Given the description of an element on the screen output the (x, y) to click on. 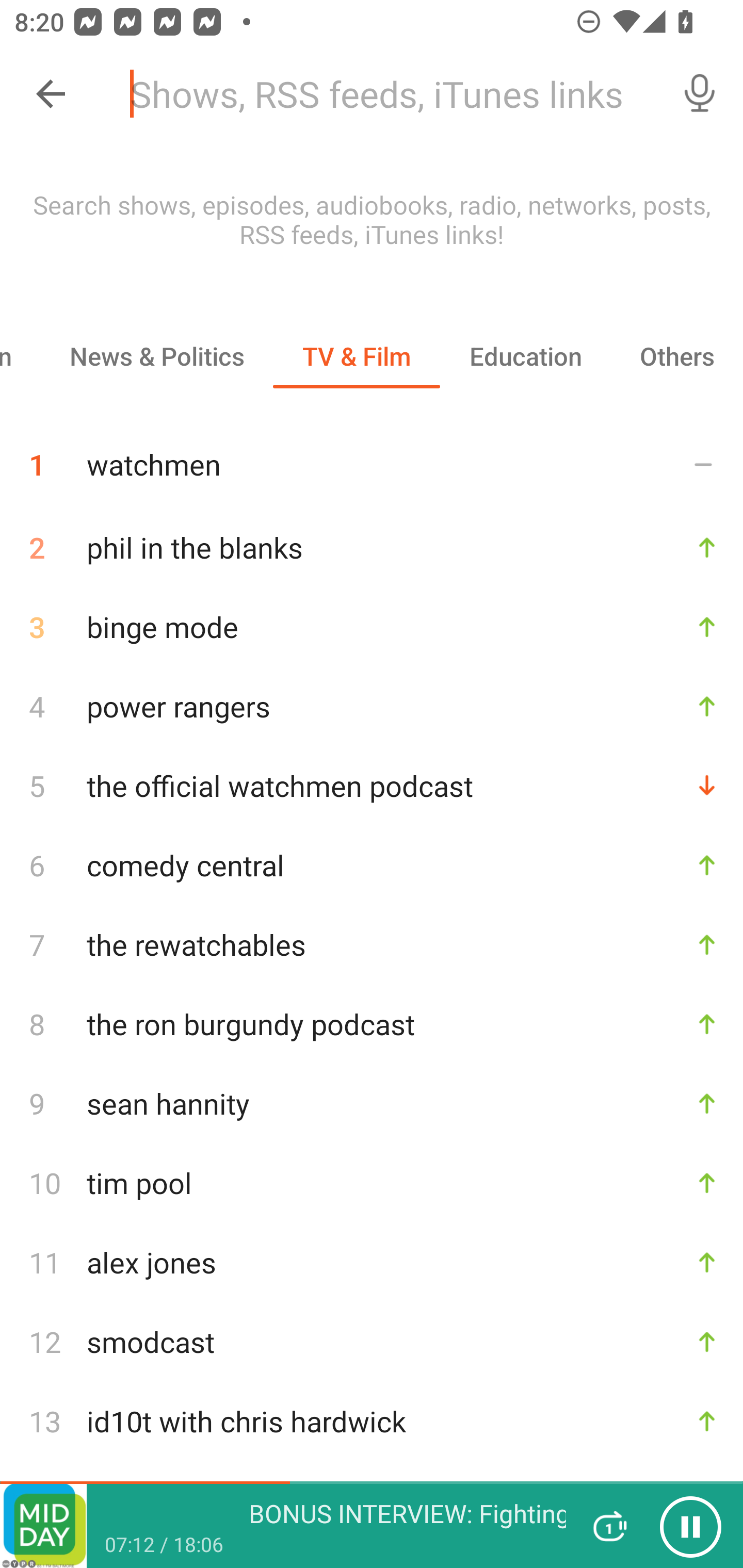
Collapse (50, 93)
Voice Search (699, 93)
Shows, RSS feeds, iTunes links (385, 94)
News & Politics (156, 355)
TV & Film (355, 355)
Education (524, 355)
Others (676, 355)
1 watchmen (371, 457)
2 phil in the blanks (371, 547)
3 binge mode (371, 626)
4 power rangers (371, 706)
5 the official watchmen podcast (371, 785)
6 comedy central (371, 864)
7 the rewatchables (371, 944)
8 the ron burgundy podcast (371, 1023)
9 sean hannity (371, 1103)
10 tim pool (371, 1183)
11 alex jones (371, 1262)
12 smodcast (371, 1341)
13 id10t with chris hardwick (371, 1421)
